Given the description of an element on the screen output the (x, y) to click on. 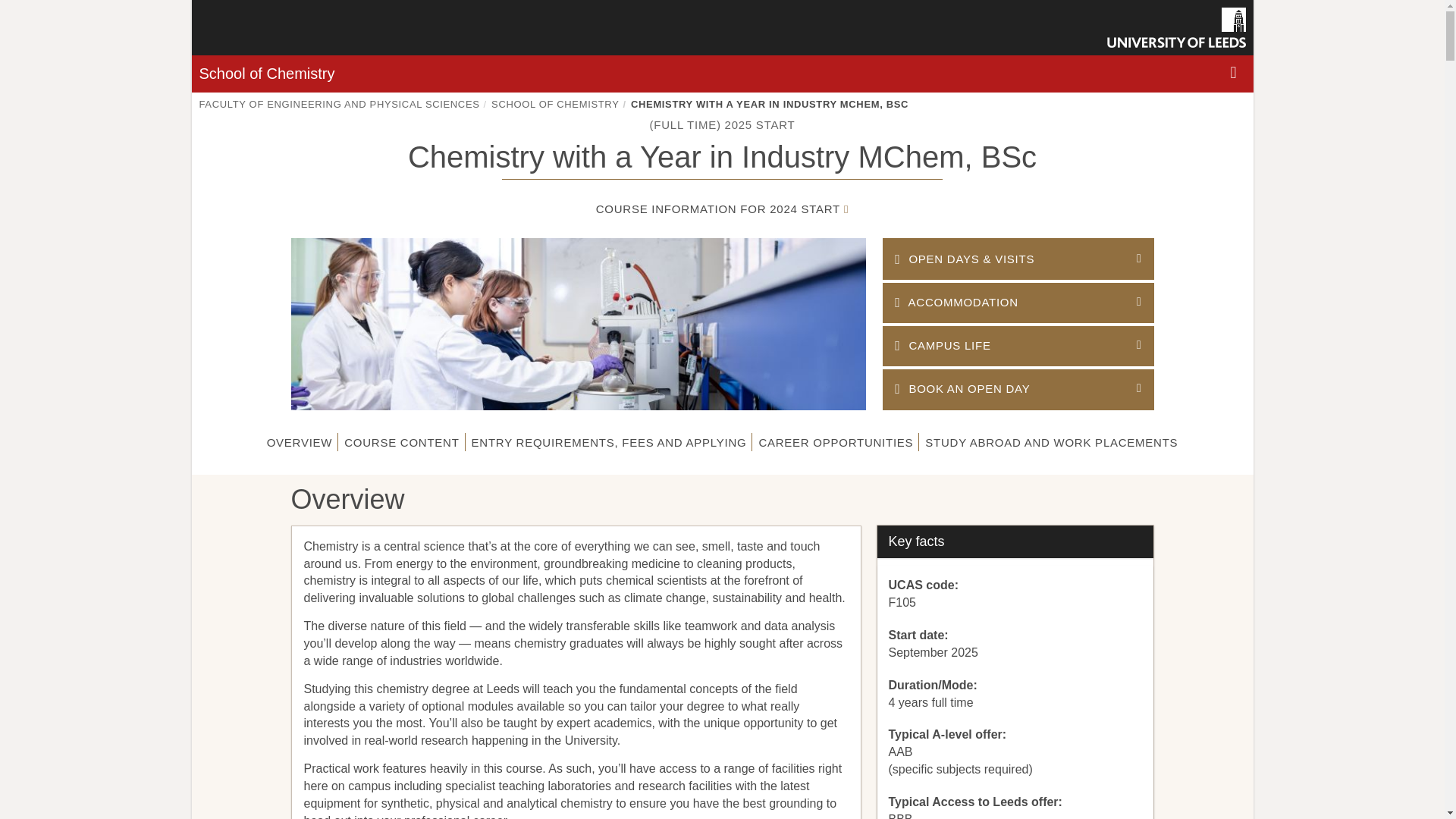
School of Chemistry (266, 73)
University of Leeds homepage (1176, 27)
